Given the description of an element on the screen output the (x, y) to click on. 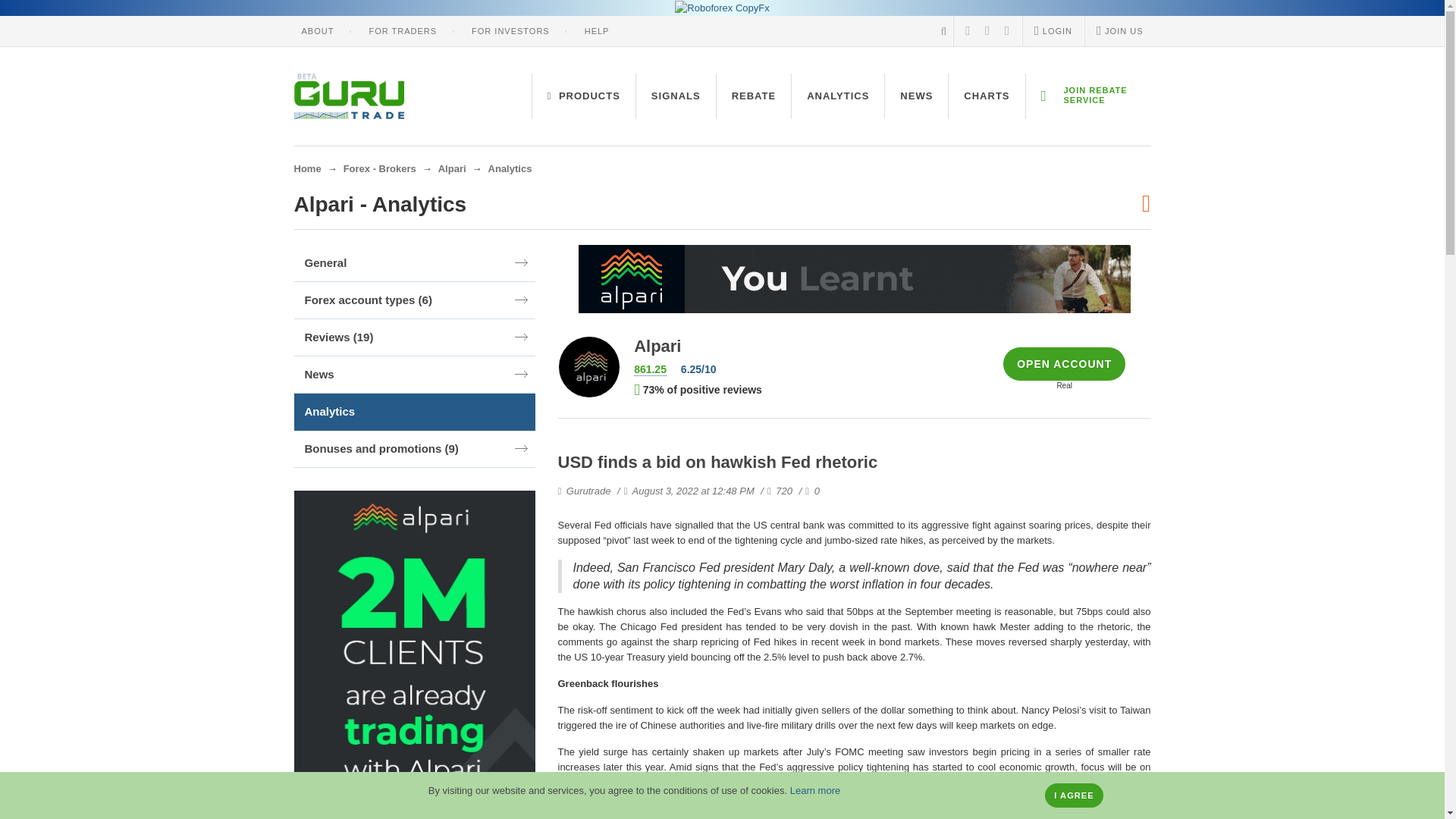
Home (307, 168)
Alpari (451, 168)
RSS (968, 30)
Number of views of this review (769, 491)
FOR INVESTORS (510, 30)
ABOUT (317, 30)
OPEN ACCOUNT (1064, 363)
JOIN US (1119, 30)
FOR TRADERS (402, 30)
CHARTS (987, 95)
JOIN REBATE SERVICE (1087, 95)
LOGIN (1052, 30)
ANALYTICS (837, 95)
PRODUCTS (583, 95)
Twitter (1007, 30)
